Given the description of an element on the screen output the (x, y) to click on. 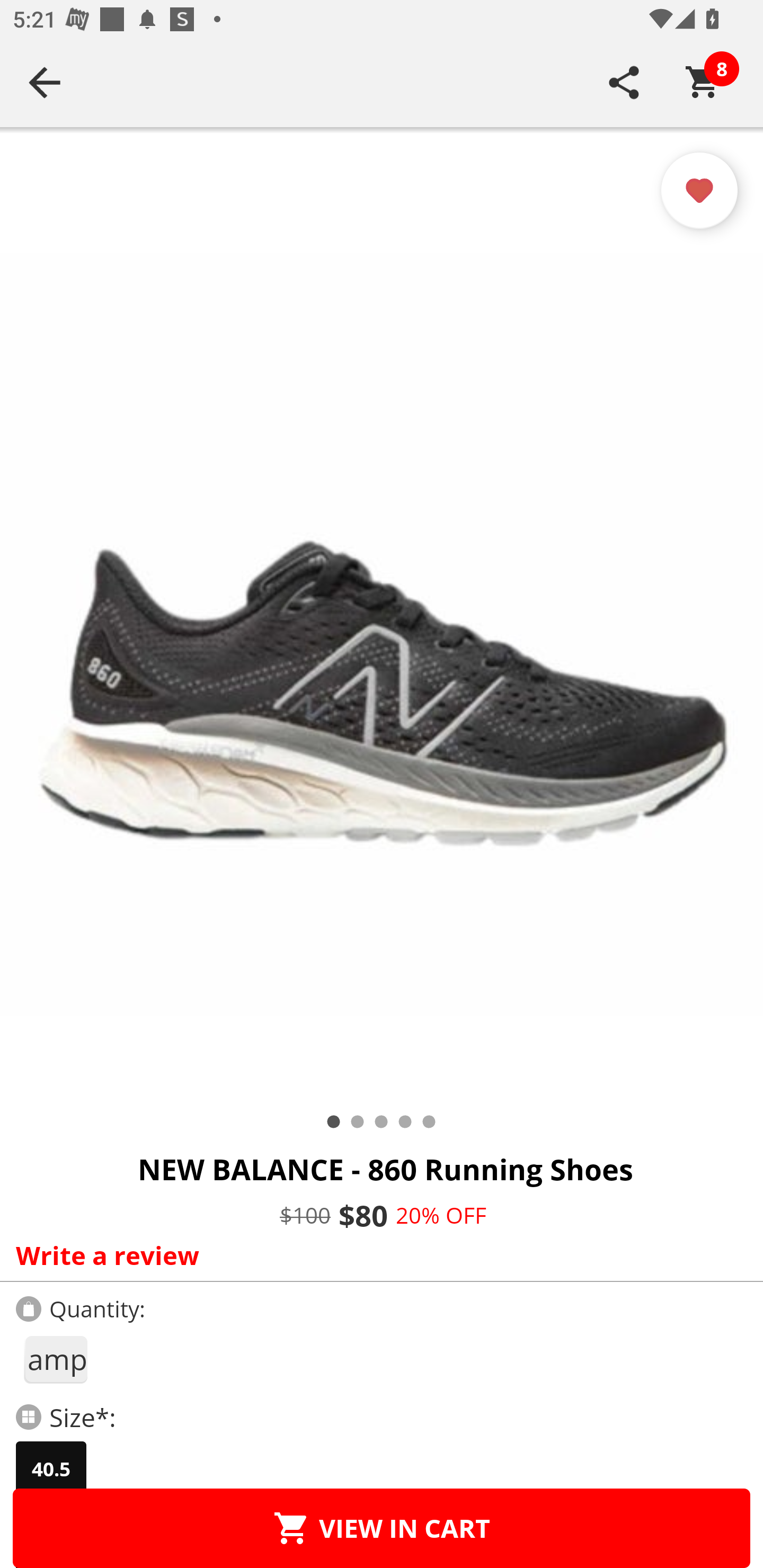
Navigate up (44, 82)
SHARE (623, 82)
Cart (703, 81)
Write a review (377, 1255)
1lamp (55, 1358)
40.5 (51, 1468)
VIEW IN CART (381, 1528)
